Given the description of an element on the screen output the (x, y) to click on. 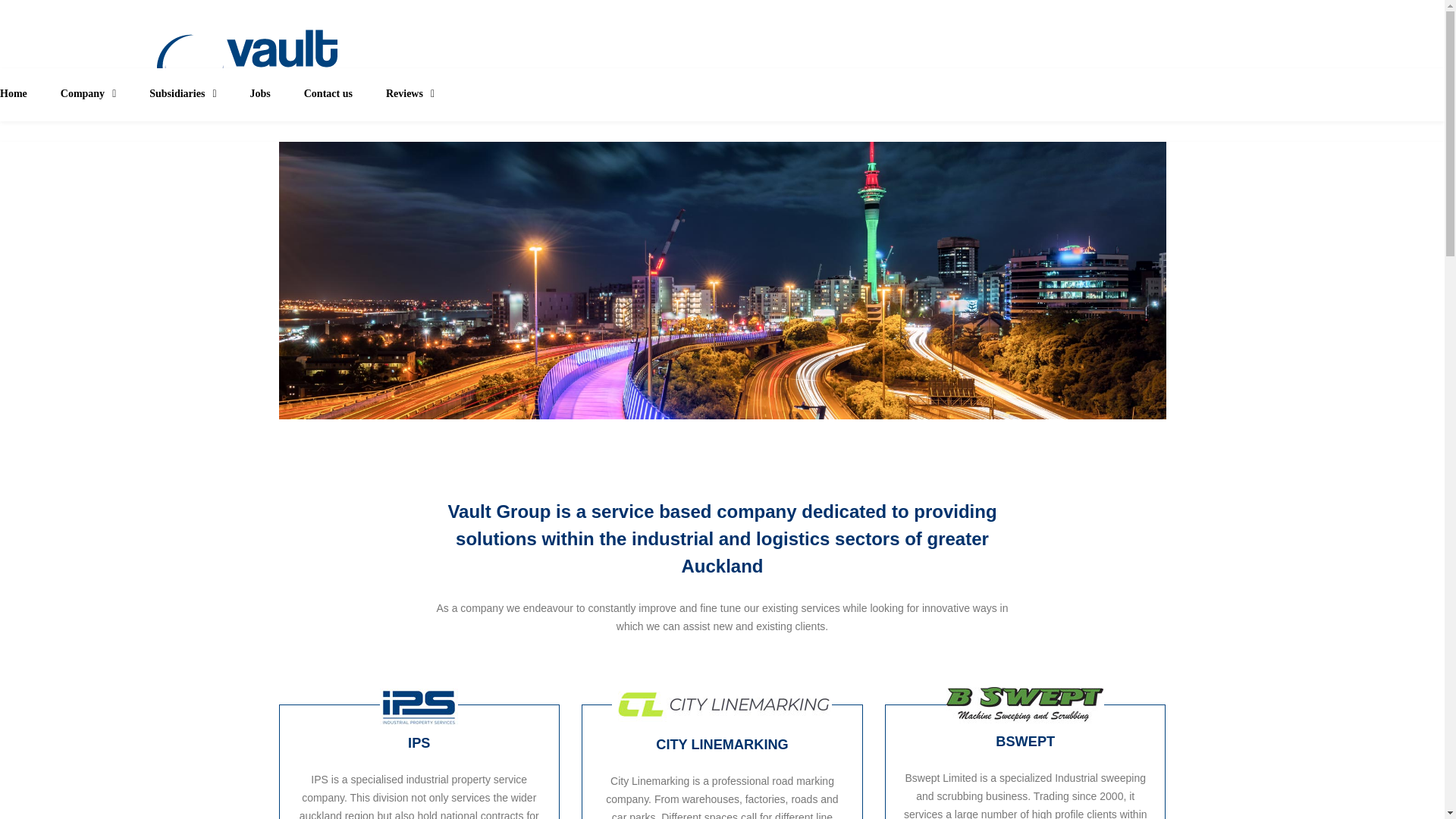
Bswept Logo (1024, 705)
CITY LINEMARKING (721, 744)
IPS Logo (419, 707)
IPS (418, 743)
Company (87, 93)
Subsidiaries (182, 93)
City Linemarking logo (721, 704)
Vault Group (245, 66)
Contact us (327, 93)
Jobs (259, 93)
BSWEPT (1024, 741)
Reviews (410, 93)
